Given the description of an element on the screen output the (x, y) to click on. 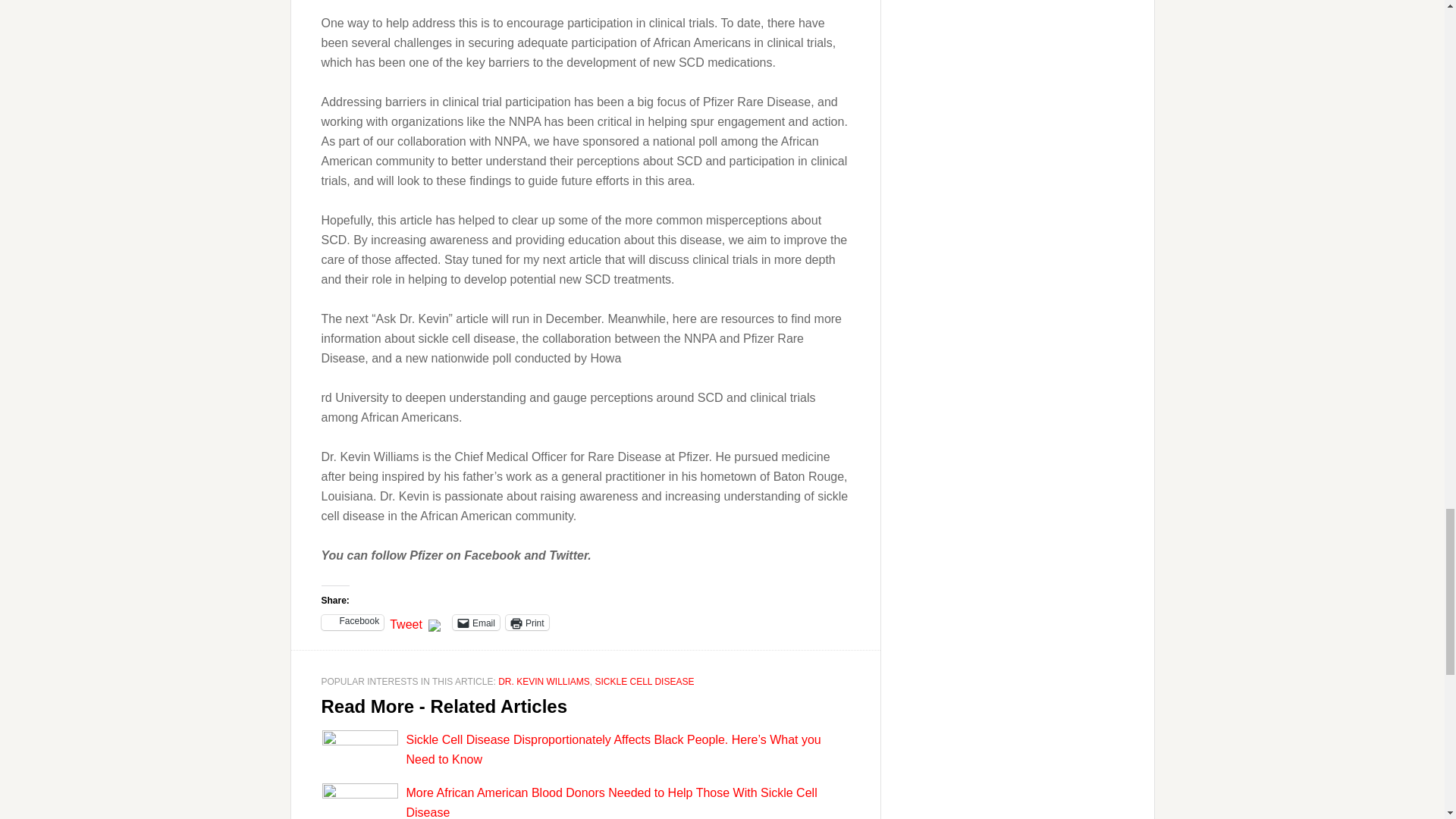
Print (526, 622)
Email (475, 622)
Facebook (352, 622)
Click to print (526, 622)
Click to email a link to a friend (475, 622)
Click to share on Facebook (352, 622)
DR. KEVIN WILLIAMS (543, 681)
SICKLE CELL DISEASE (644, 681)
Tweet (406, 621)
